Given the description of an element on the screen output the (x, y) to click on. 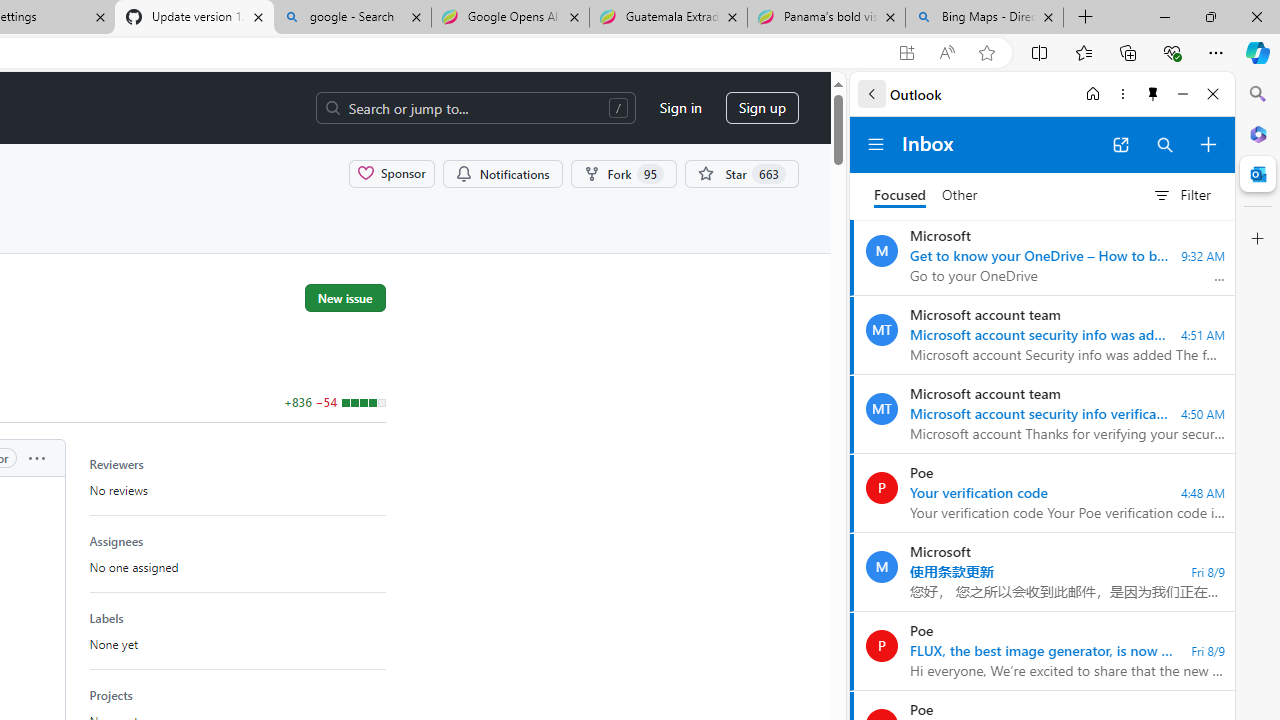
Fork 95 (623, 173)
App available. Install GitHub (906, 53)
Folder navigation (876, 144)
Other (959, 195)
Filter (1181, 195)
You must be signed in to star a repository (741, 173)
